Given the description of an element on the screen output the (x, y) to click on. 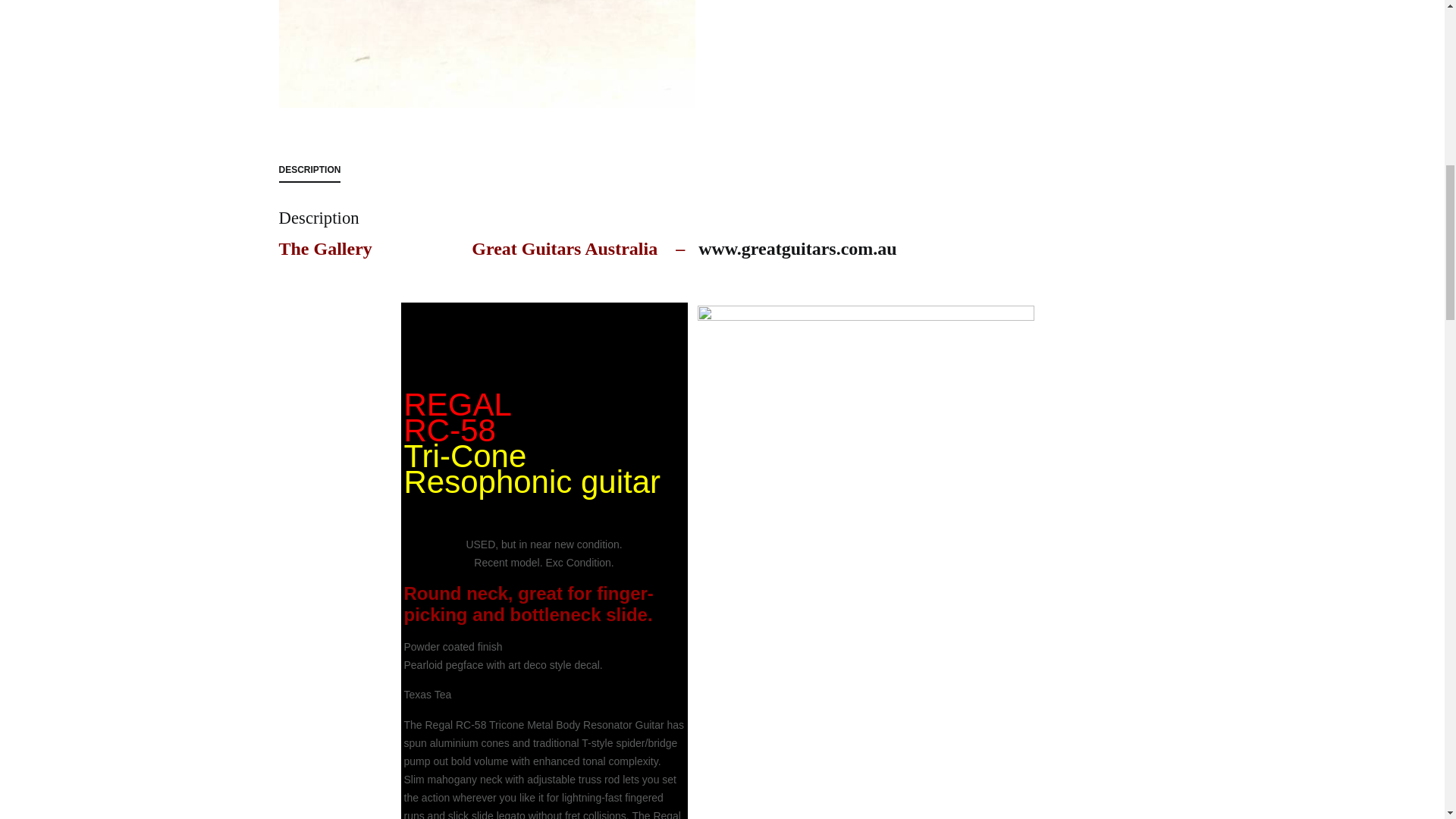
DSCF9345 (487, 53)
